Given the description of an element on the screen output the (x, y) to click on. 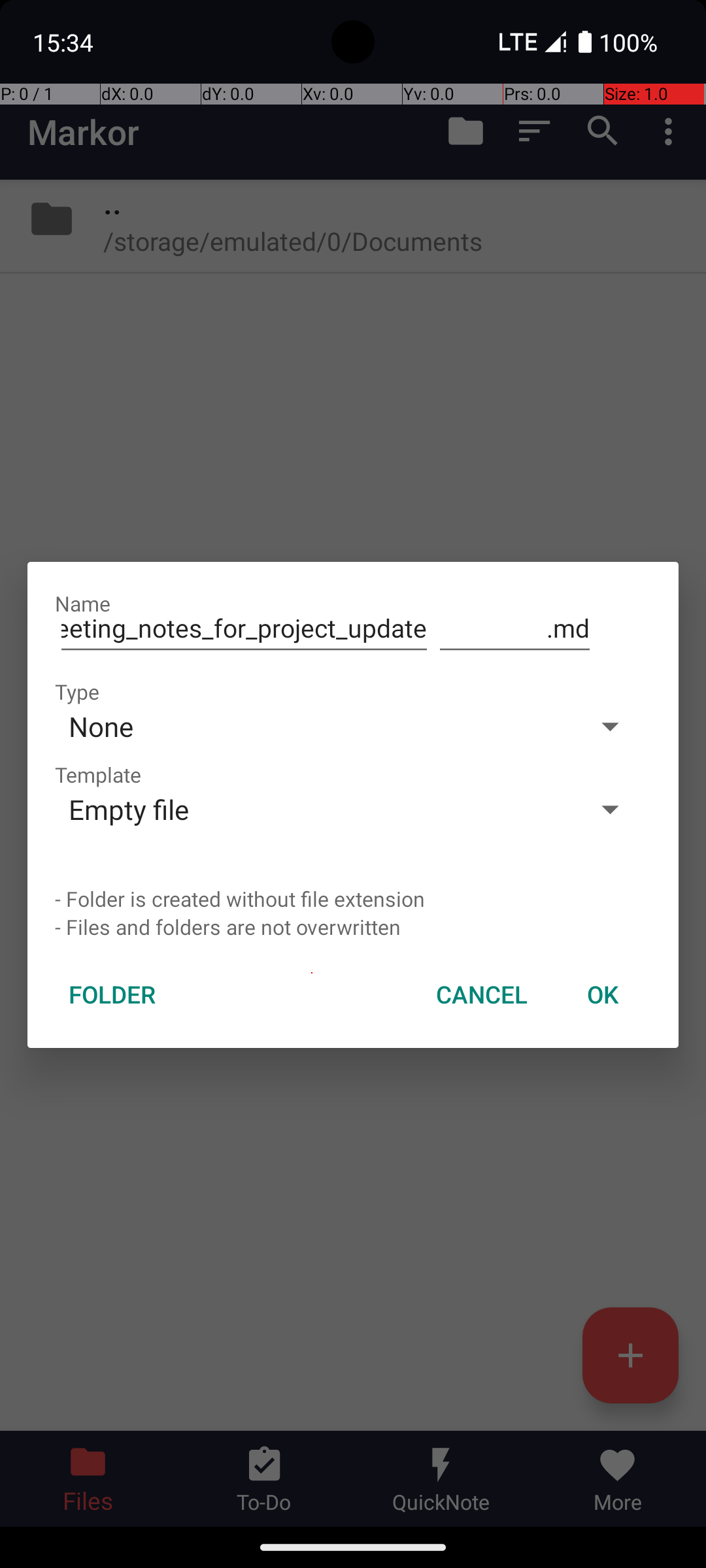
Meeting_notes_for_project_update Element type: android.widget.EditText (243, 628)
